Given the description of an element on the screen output the (x, y) to click on. 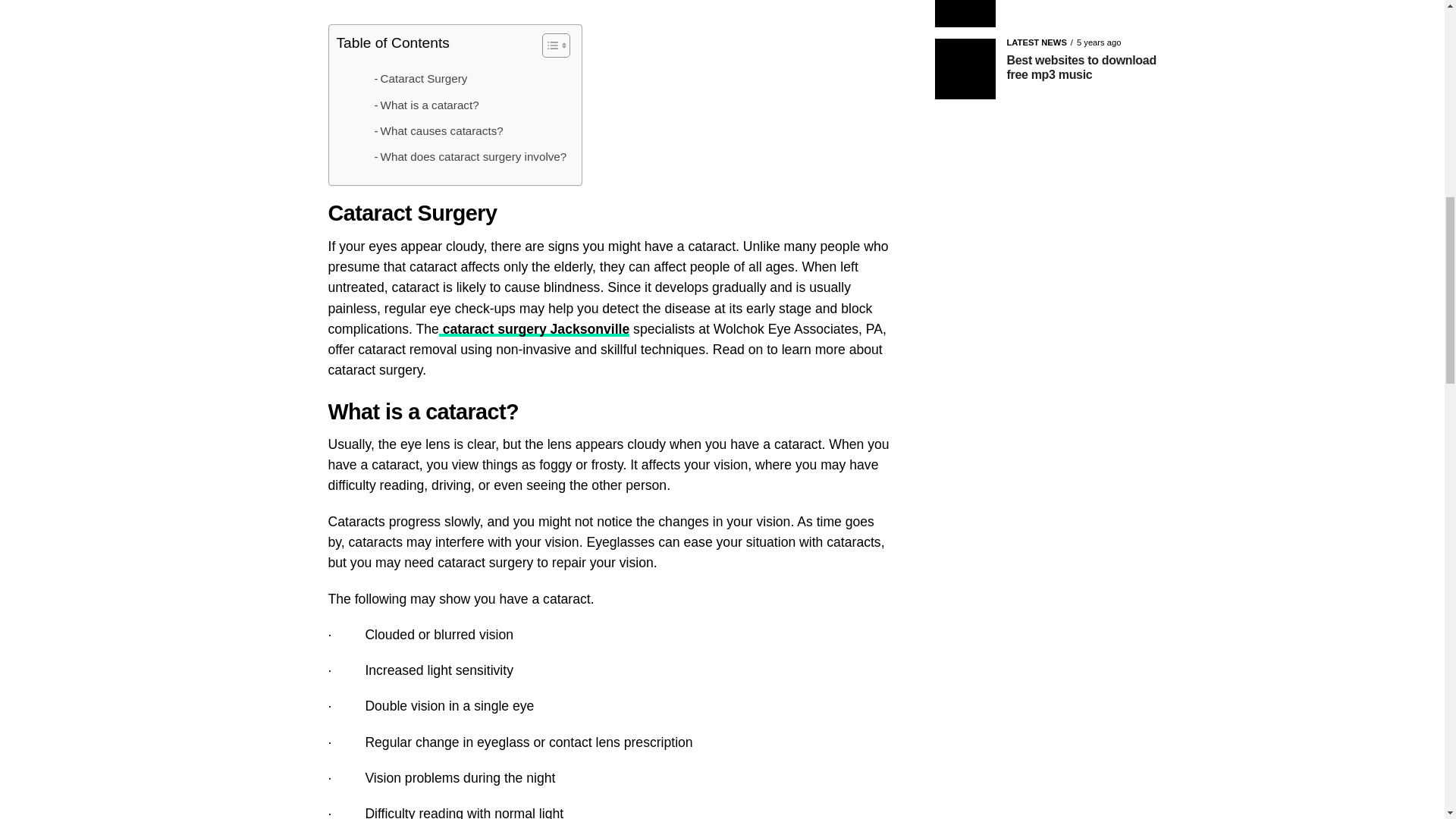
What causes cataracts? (438, 131)
What is a cataract? (426, 104)
cataract surgery Jacksonville (533, 328)
What is a cataract? (426, 104)
Cataract Surgery (420, 78)
What does cataract surgery involve? (470, 157)
What does cataract surgery involve? (470, 157)
Cataract Surgery (420, 78)
What causes cataracts? (438, 131)
